Given the description of an element on the screen output the (x, y) to click on. 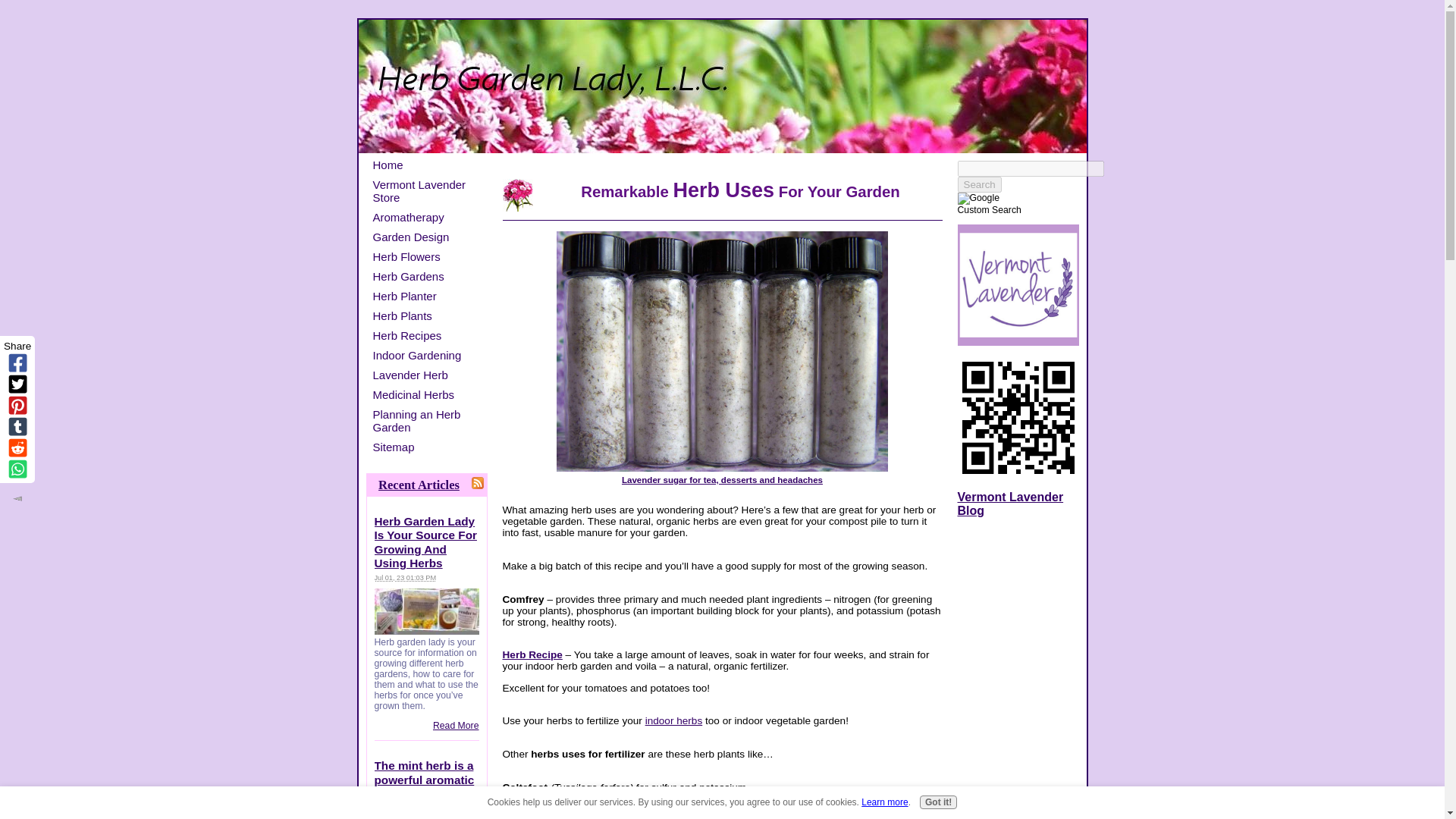
Herb Recipe (532, 654)
Vermont Lavender Store (428, 191)
Lavender sugar for tea, desserts and headaches (722, 474)
Herb Recipes (428, 334)
Indoor Gardening (428, 354)
Sitemap (428, 446)
Herb Plants (428, 315)
Medicinal Herbs (428, 394)
2021-10-29T10:44:44-0400 (406, 818)
Lavender sugar for headaches (722, 350)
Search (978, 184)
Herb Garden Lady Is Your Source For Growing And Using Herbs (425, 542)
Herb Flowers (428, 256)
indoor herbs (674, 720)
